Given the description of an element on the screen output the (x, y) to click on. 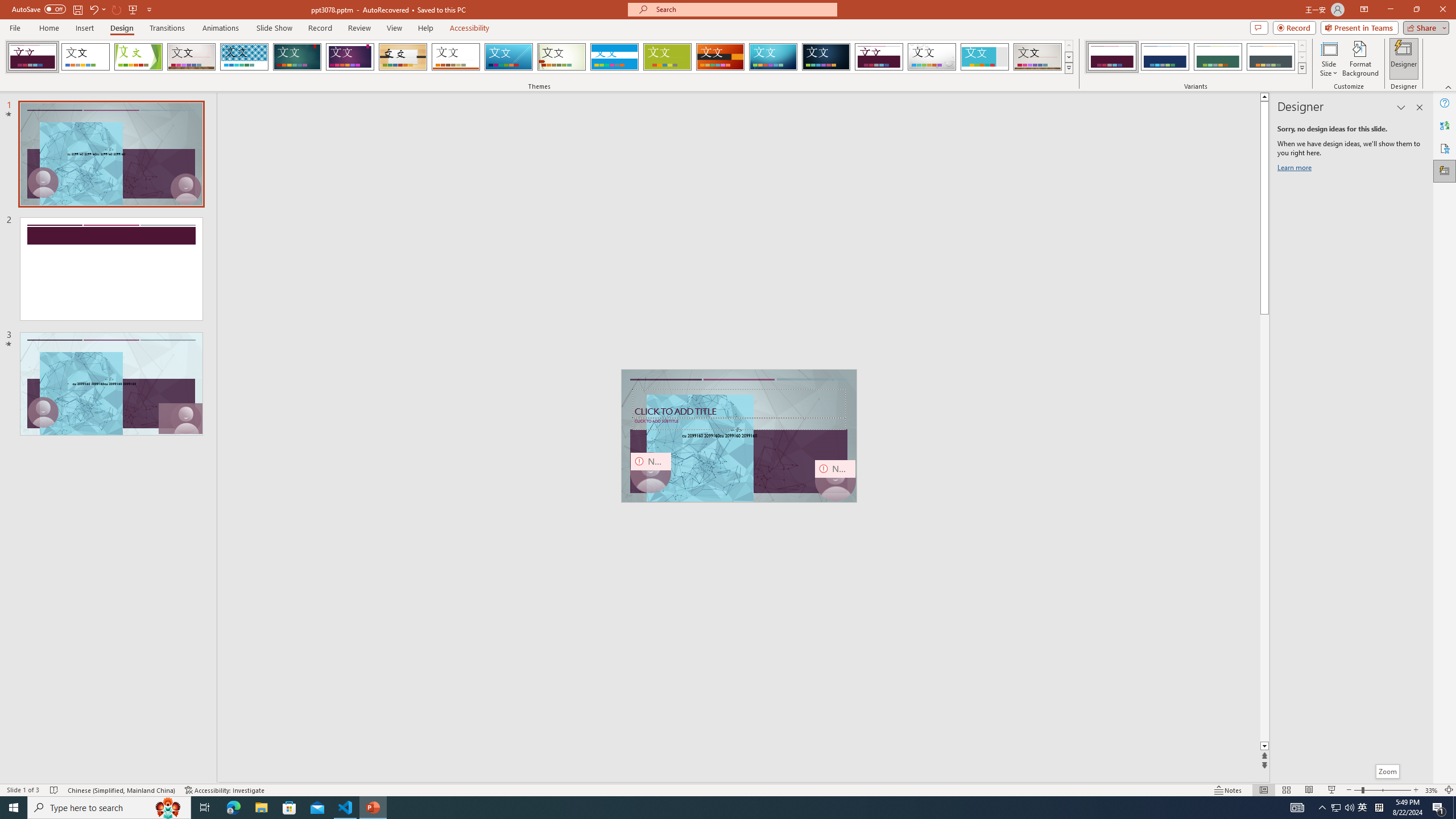
Organic (403, 56)
Variants (1301, 67)
Dividend Variant 1 (1112, 56)
AutomationID: SlideThemesGallery (539, 56)
